Given the description of an element on the screen output the (x, y) to click on. 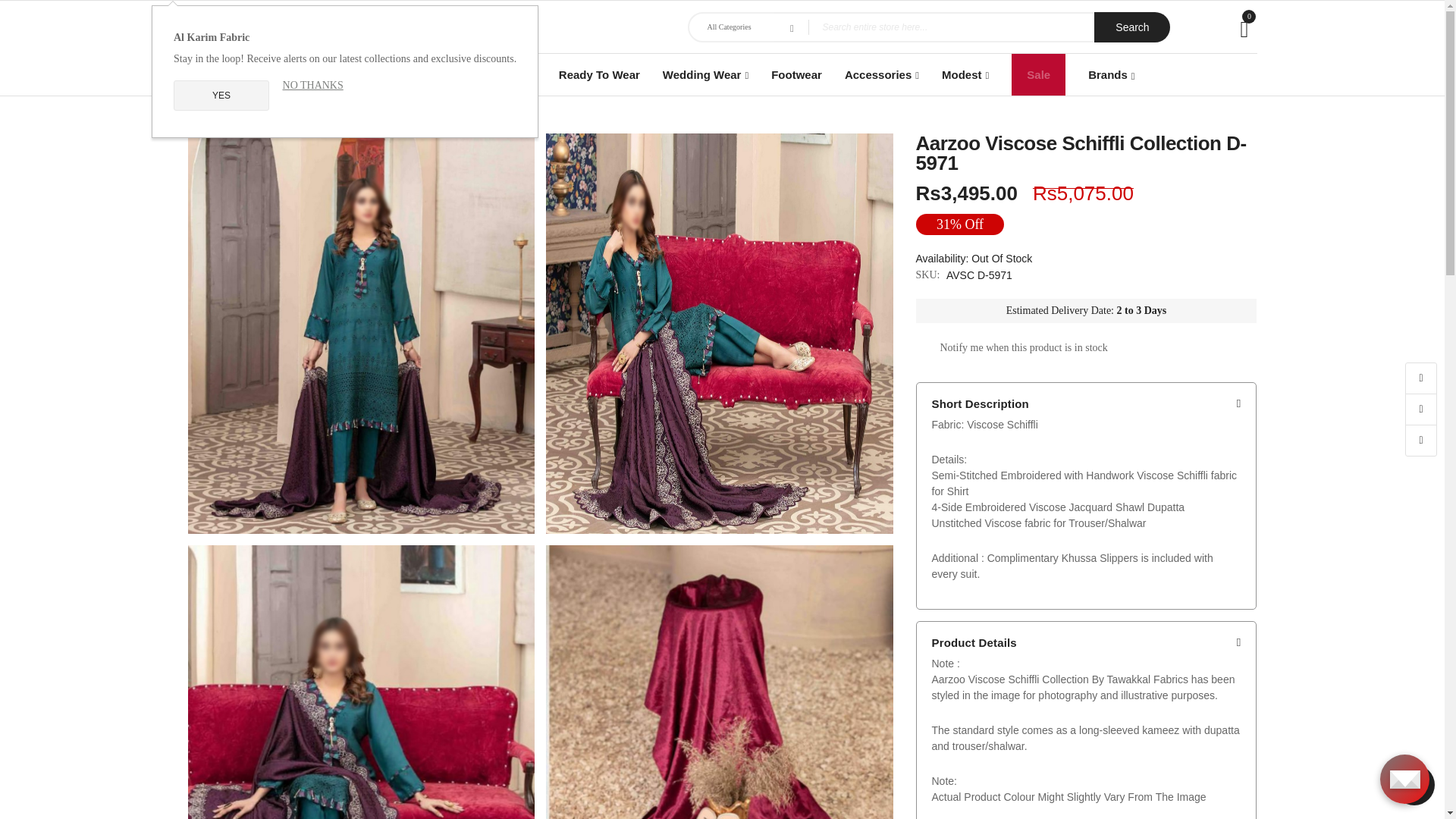
Search (1132, 27)
